Given the description of an element on the screen output the (x, y) to click on. 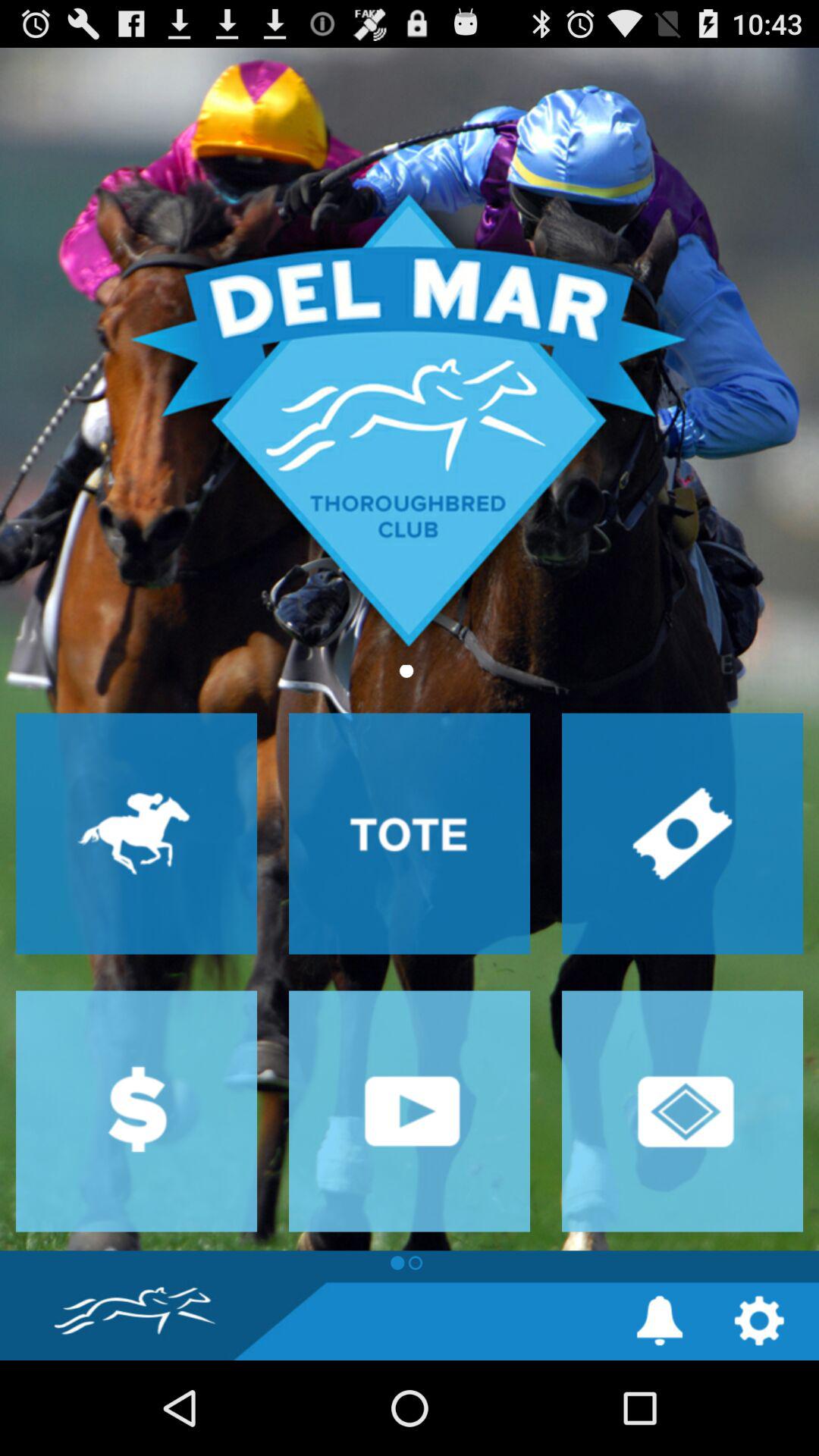
go to alarm (659, 1320)
